Given the description of an element on the screen output the (x, y) to click on. 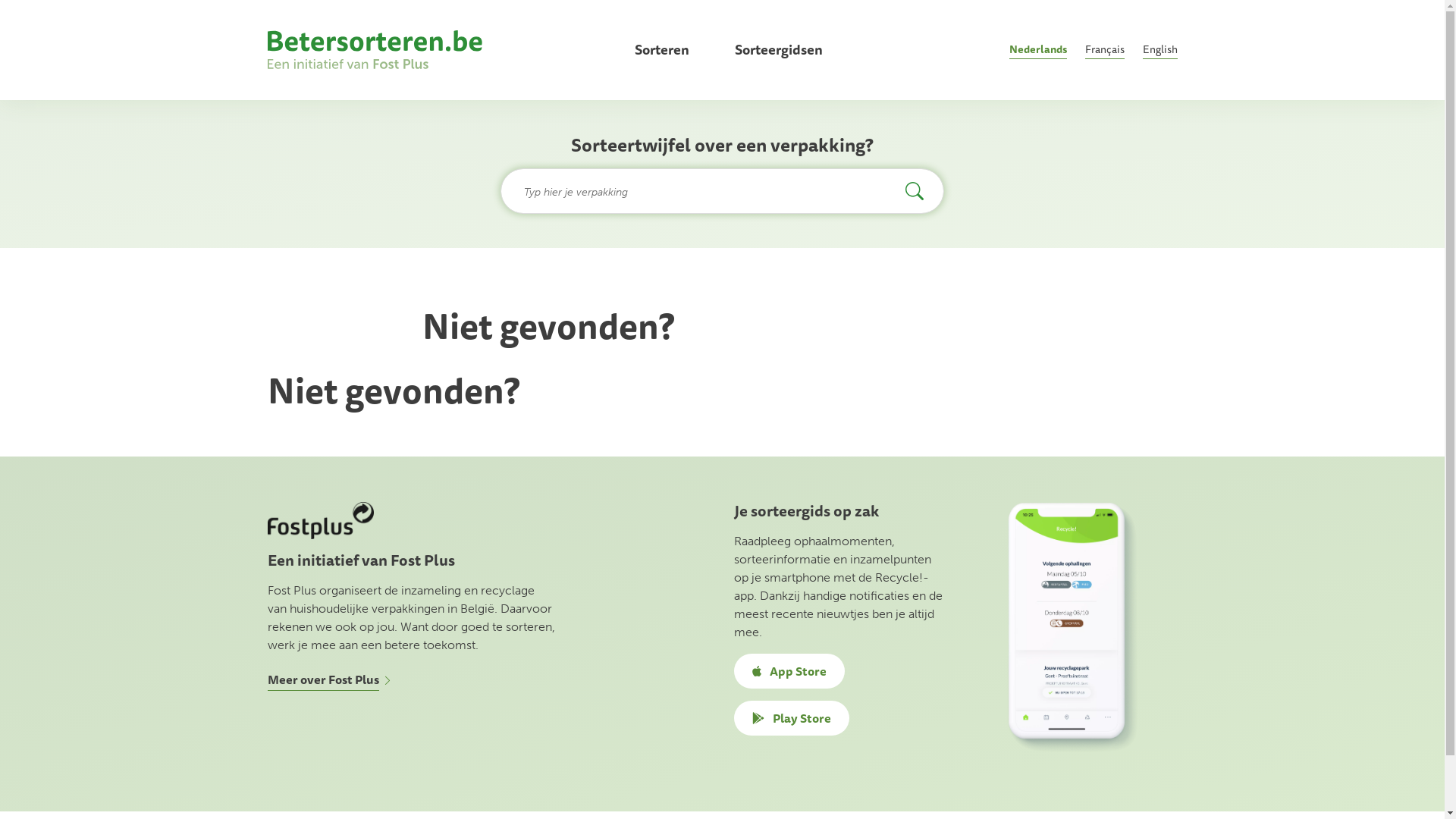
Zoeken Element type: text (914, 190)
Overslaan en naar de inhoud gaan Element type: text (0, 0)
  App Store Element type: text (789, 670)
  Play Store Element type: text (791, 717)
English Element type: text (1159, 49)
Nederlands Element type: text (1037, 49)
Naar de homepagina Element type: hover (373, 49)
Sorteergidsen Element type: text (778, 49)
Sorteren Element type: text (660, 49)
Meer over Fost Plus Element type: text (322, 679)
